Given the description of an element on the screen output the (x, y) to click on. 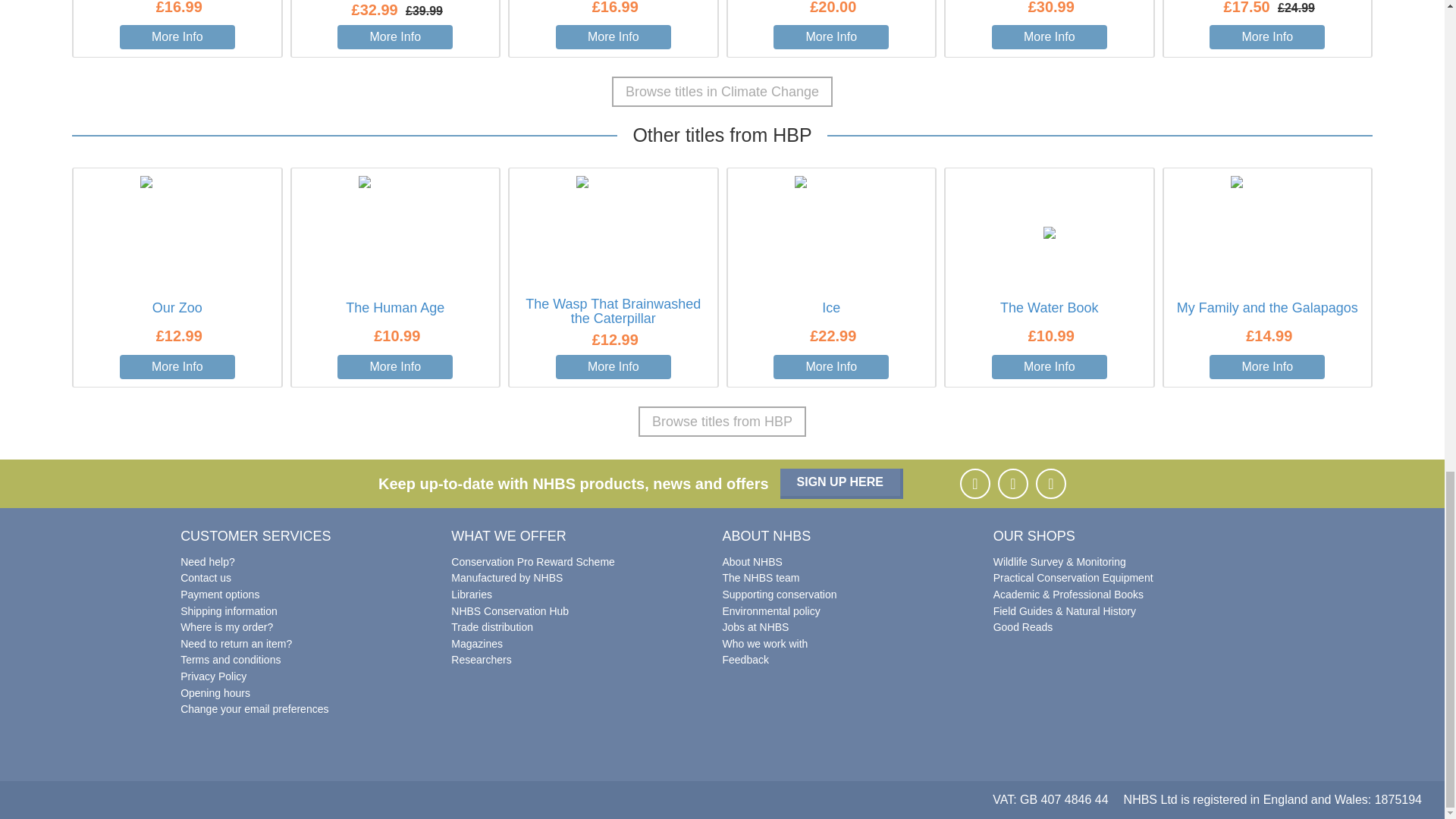
Follow us on Facebook (974, 483)
Follow us on Twitter (1050, 483)
Follow us on Instagram (1012, 483)
Sign up here (841, 483)
